Given the description of an element on the screen output the (x, y) to click on. 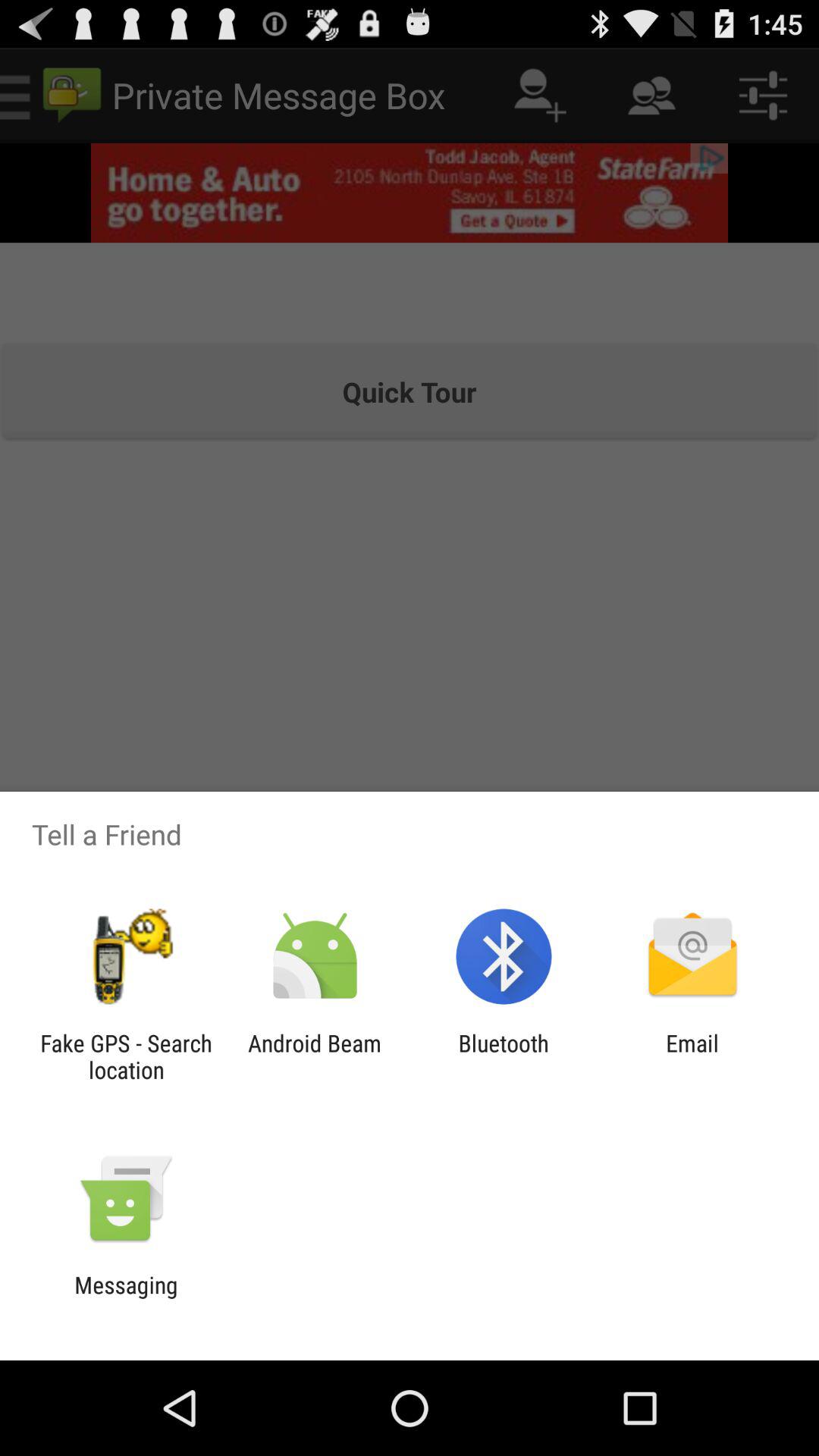
tap icon next to android beam item (125, 1056)
